Given the description of an element on the screen output the (x, y) to click on. 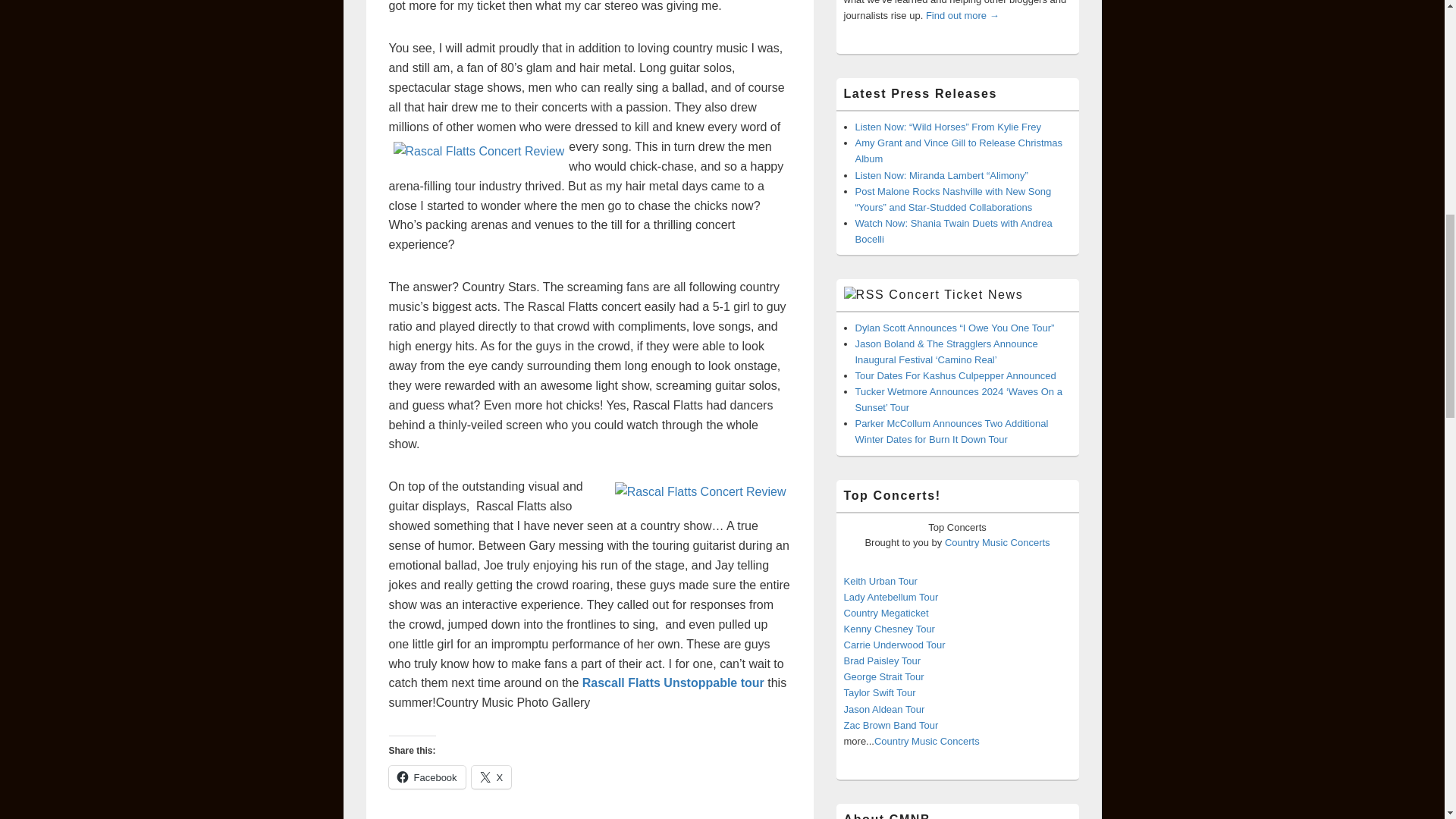
Rascal Flatts Concert Review (478, 151)
Country Music Concerts (996, 542)
Click to share on X (491, 776)
 Keith Urban Tour (880, 581)
X (491, 776)
Rascal Flatts on tour (673, 682)
Facebook (426, 776)
Rascal Flatts Concert Review (700, 492)
Rascall Flatts Unstoppable tour (673, 682)
Click to share on Facebook (426, 776)
